Given the description of an element on the screen output the (x, y) to click on. 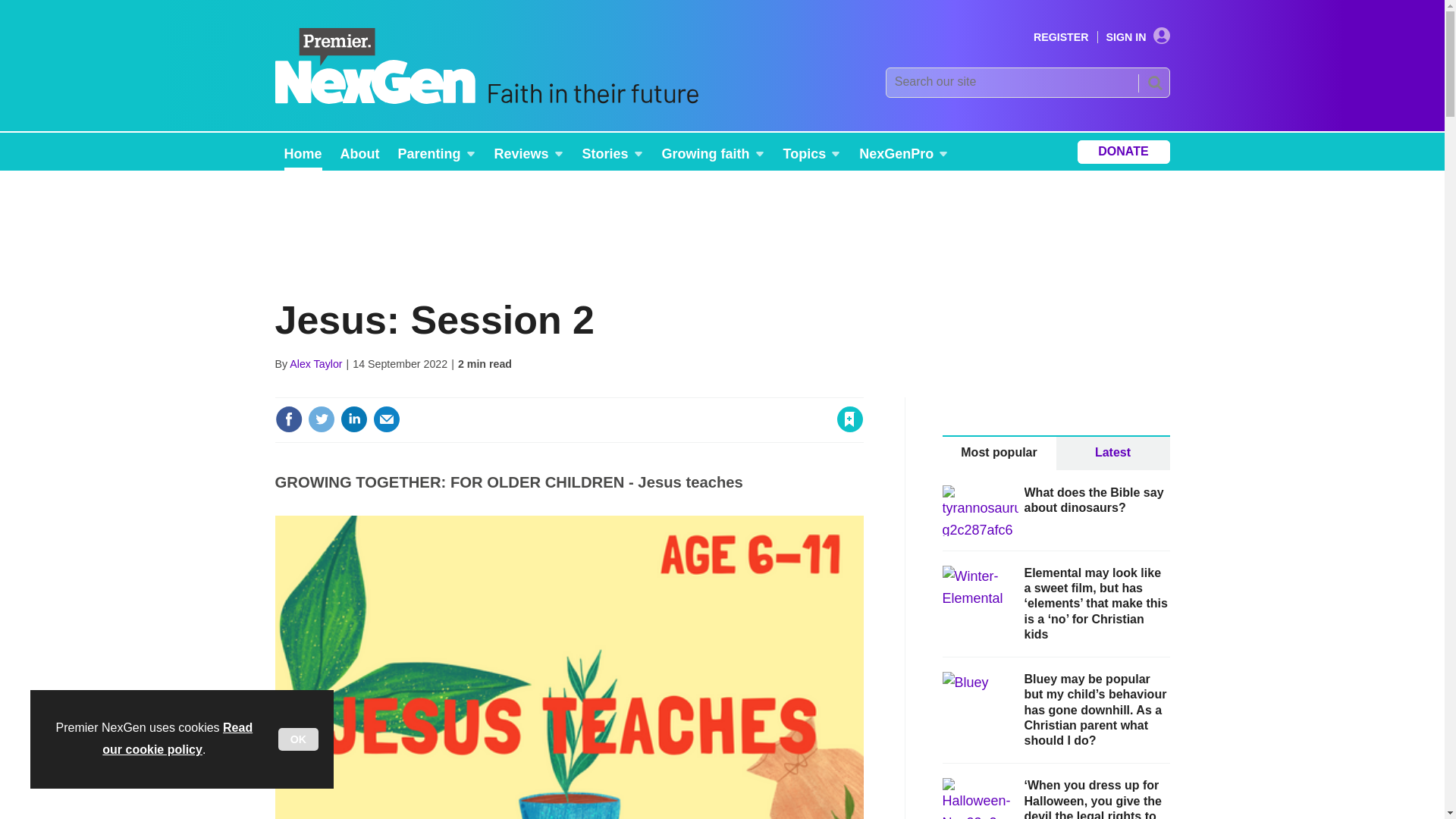
Parenting (436, 151)
Email this article (386, 419)
SEARCH (1153, 82)
REGISTER (1061, 37)
Site name (486, 99)
Read our cookie policy (176, 738)
OK (298, 739)
Share this on Facebook (288, 419)
Share this on Twitter (320, 419)
Share this on Linked in (352, 419)
